Given the description of an element on the screen output the (x, y) to click on. 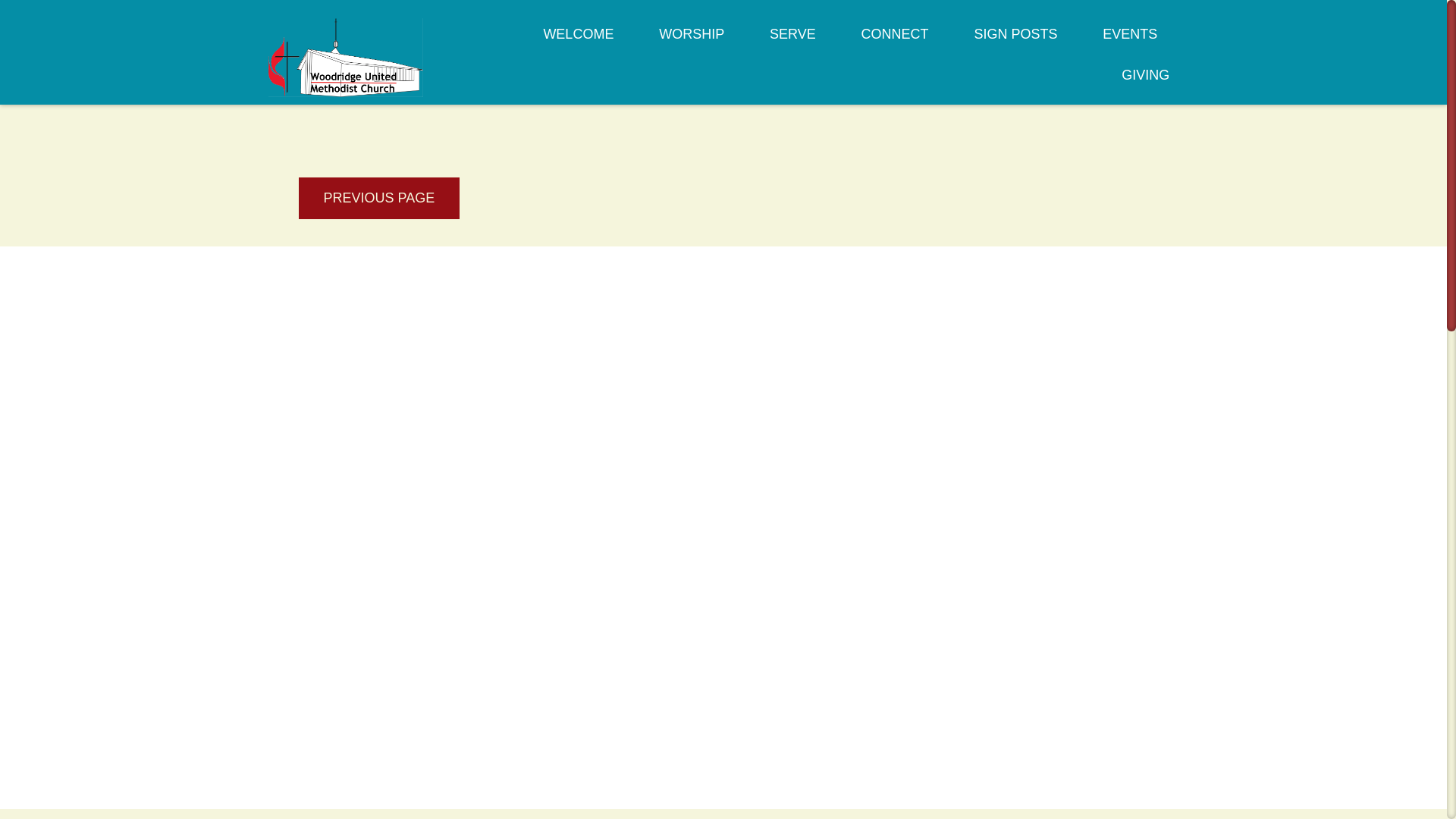
EVENTS (1130, 42)
WORSHIP (691, 42)
GIVING (1145, 83)
CONNECT (894, 42)
WELCOME (578, 42)
SIGN POSTS (1015, 42)
SERVE (792, 42)
